Given the description of an element on the screen output the (x, y) to click on. 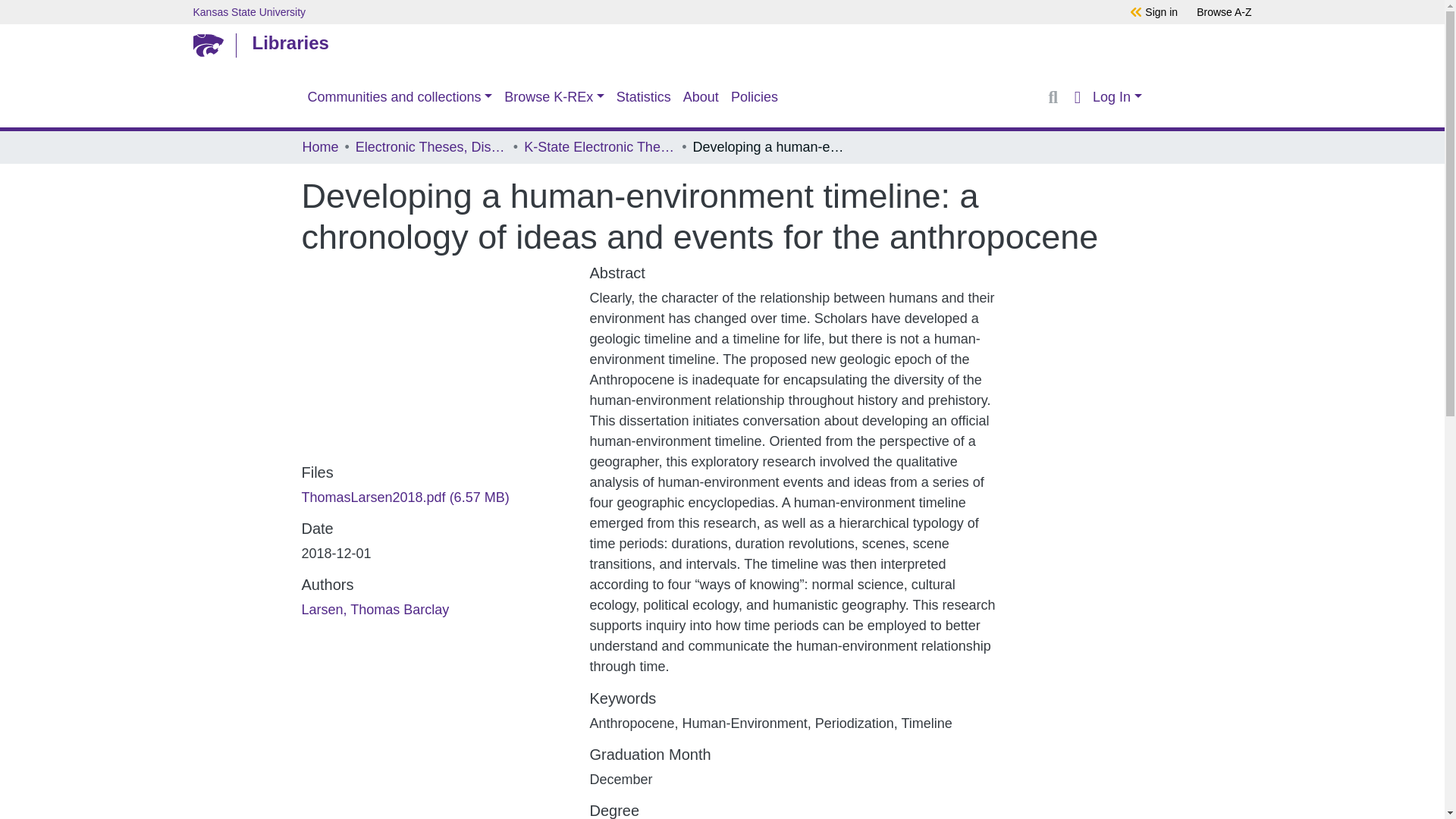
Policies (754, 97)
Log In (1116, 96)
Sign in (1160, 11)
Search (1053, 96)
Kansas State University (625, 11)
Communities and collections (400, 97)
Larsen, Thomas Barclay (375, 609)
About (701, 97)
Statistics (643, 97)
About (701, 97)
Home (319, 147)
Electronic Theses, Dissertations, and Reports (430, 147)
Statistics (643, 97)
Policies (754, 97)
